Given the description of an element on the screen output the (x, y) to click on. 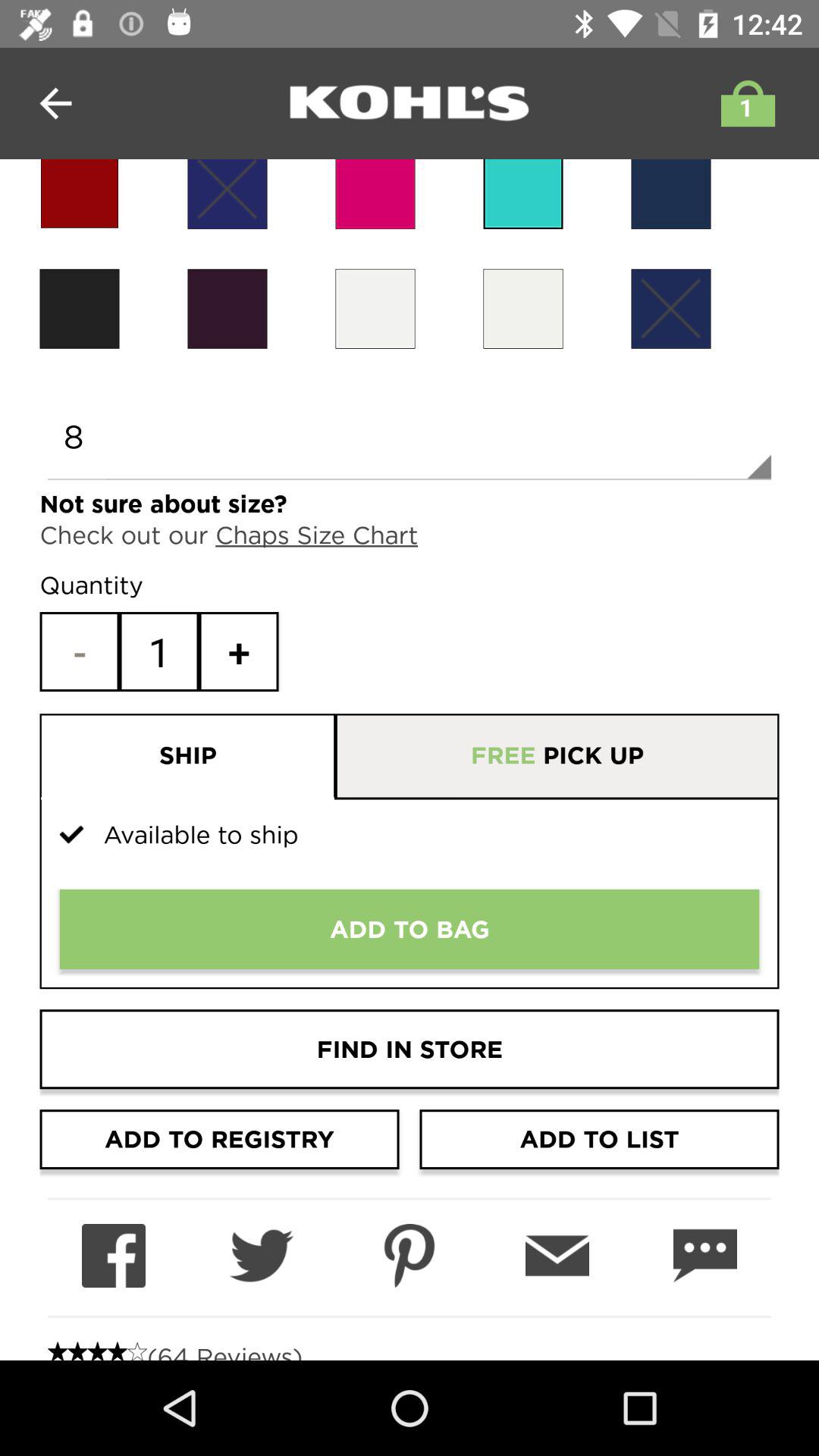
find on twitter (261, 1255)
